Given the description of an element on the screen output the (x, y) to click on. 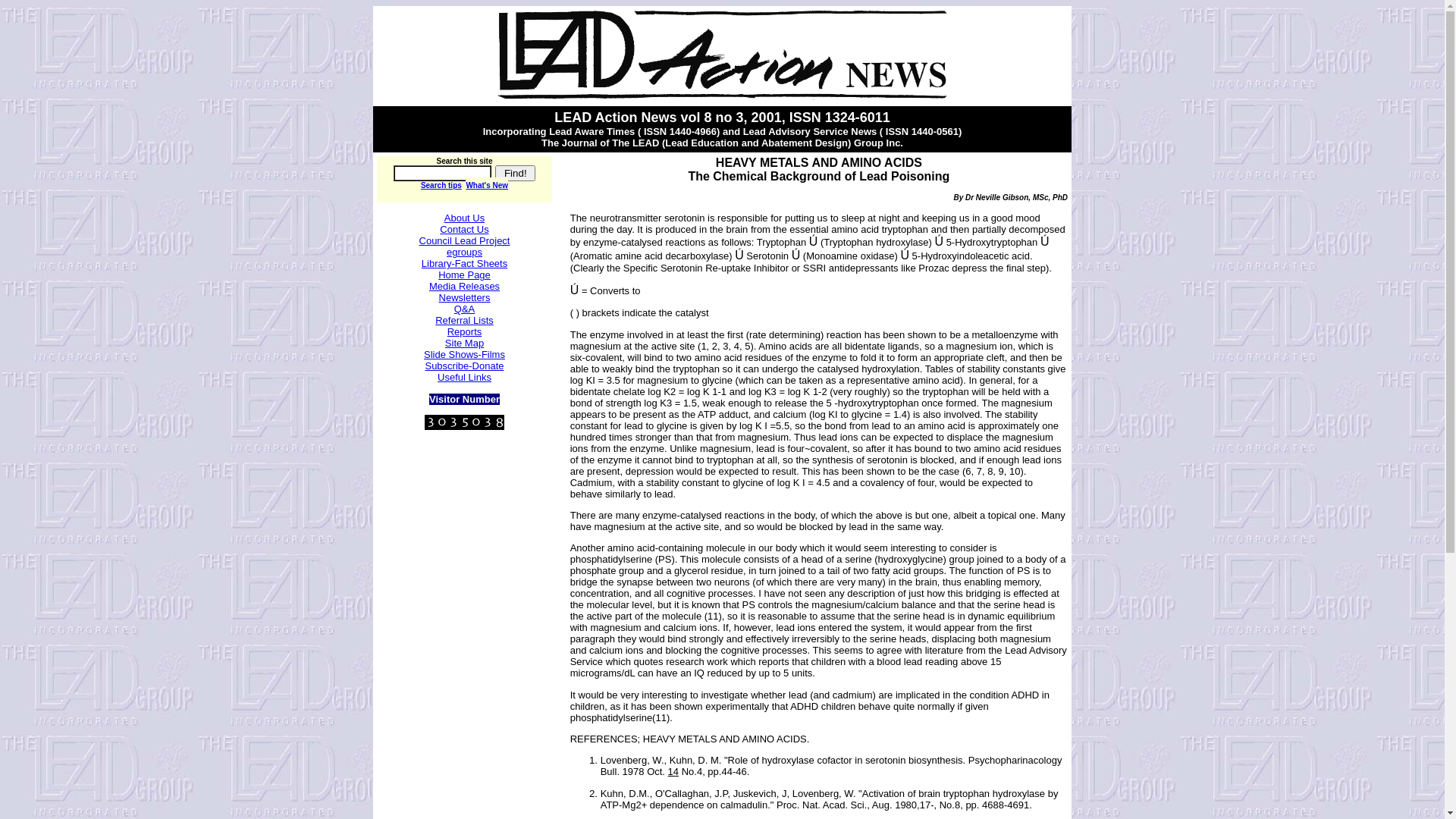
About Us Element type: text (464, 217)
Council Lead Project Element type: text (464, 240)
Contact Us Element type: text (463, 229)
Newsletters Element type: text (464, 297)
Library-Fact Sheets Element type: text (464, 263)
Q&A Element type: text (464, 308)
What's New Element type: text (486, 183)
Useful Links Element type: text (464, 376)
Search tips Element type: text (440, 185)
Media Releases Element type: text (464, 285)
egroups Element type: text (464, 251)
Slide Shows-Films Element type: text (464, 354)
Reports Element type: text (464, 331)
 Find!  Element type: text (515, 173)
Home Page Element type: text (464, 274)
Subscribe-Donate Element type: text (463, 365)
Site Map Element type: text (464, 342)
Referral Lists Element type: text (464, 320)
